Given the description of an element on the screen output the (x, y) to click on. 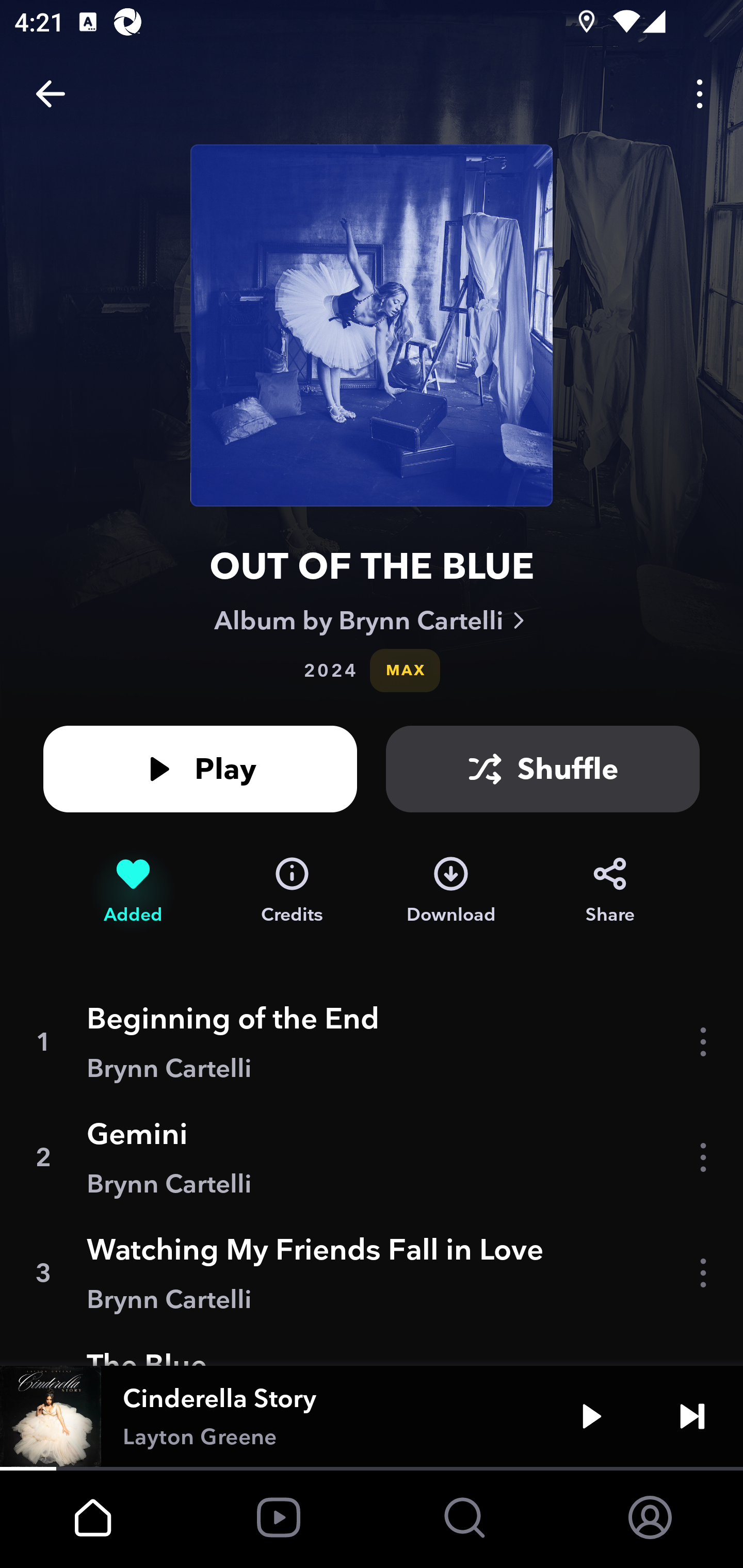
Options (699, 93)
OUT OF THE BLUE (371, 565)
Album by Brynn Cartelli (371, 619)
Play (200, 768)
Shuffle (542, 768)
Remove from My Collection Added (132, 890)
Credits (291, 890)
Download (450, 890)
Share (609, 890)
1 Beginning of the End Brynn Cartelli (371, 1041)
2 Gemini Brynn Cartelli (371, 1157)
3 Watching My Friends Fall in Love Brynn Cartelli (371, 1273)
Cinderella Story Layton Greene Play (371, 1416)
Play (590, 1416)
